Given the description of an element on the screen output the (x, y) to click on. 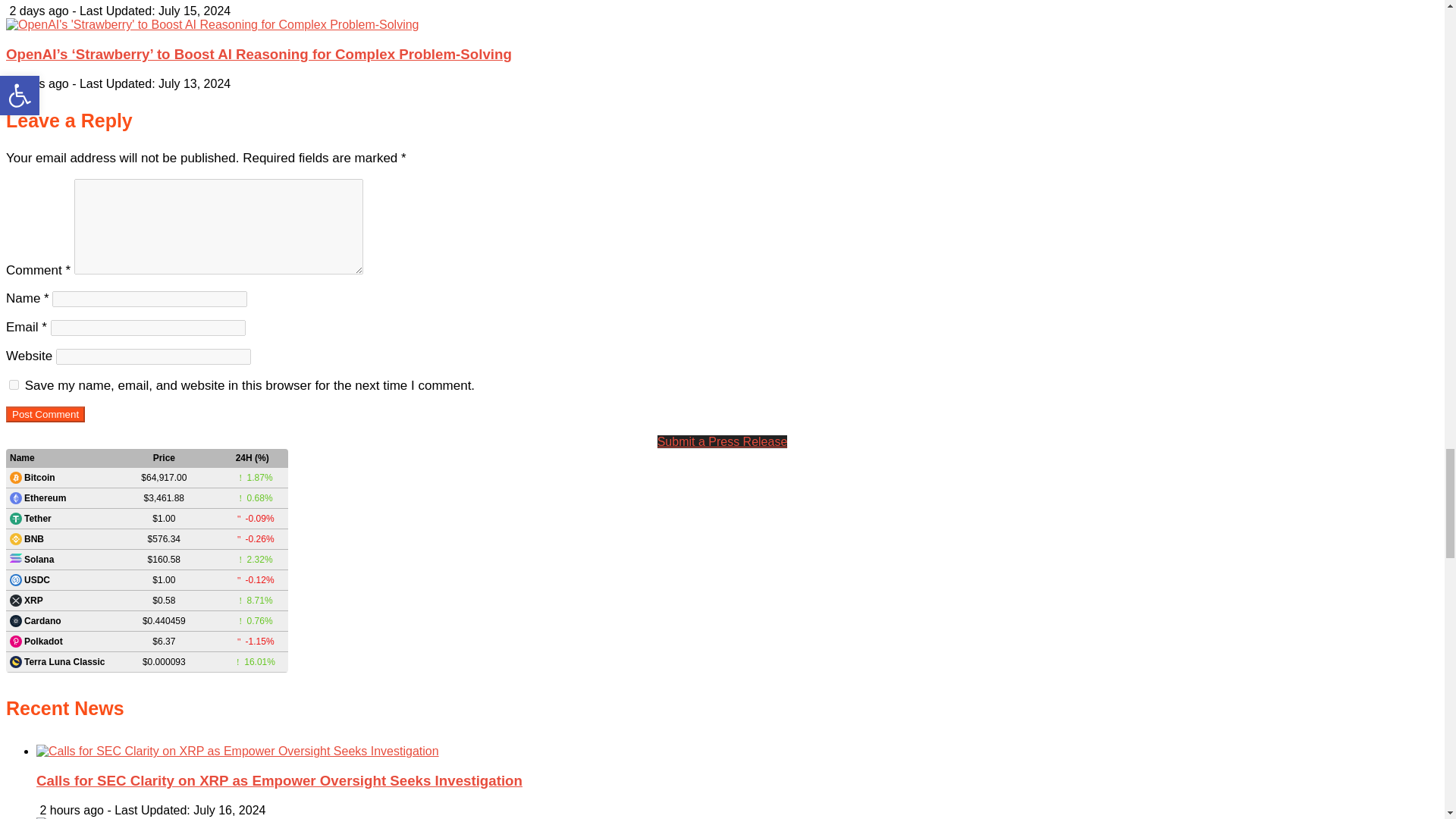
Post Comment (44, 414)
yes (13, 384)
